Given the description of an element on the screen output the (x, y) to click on. 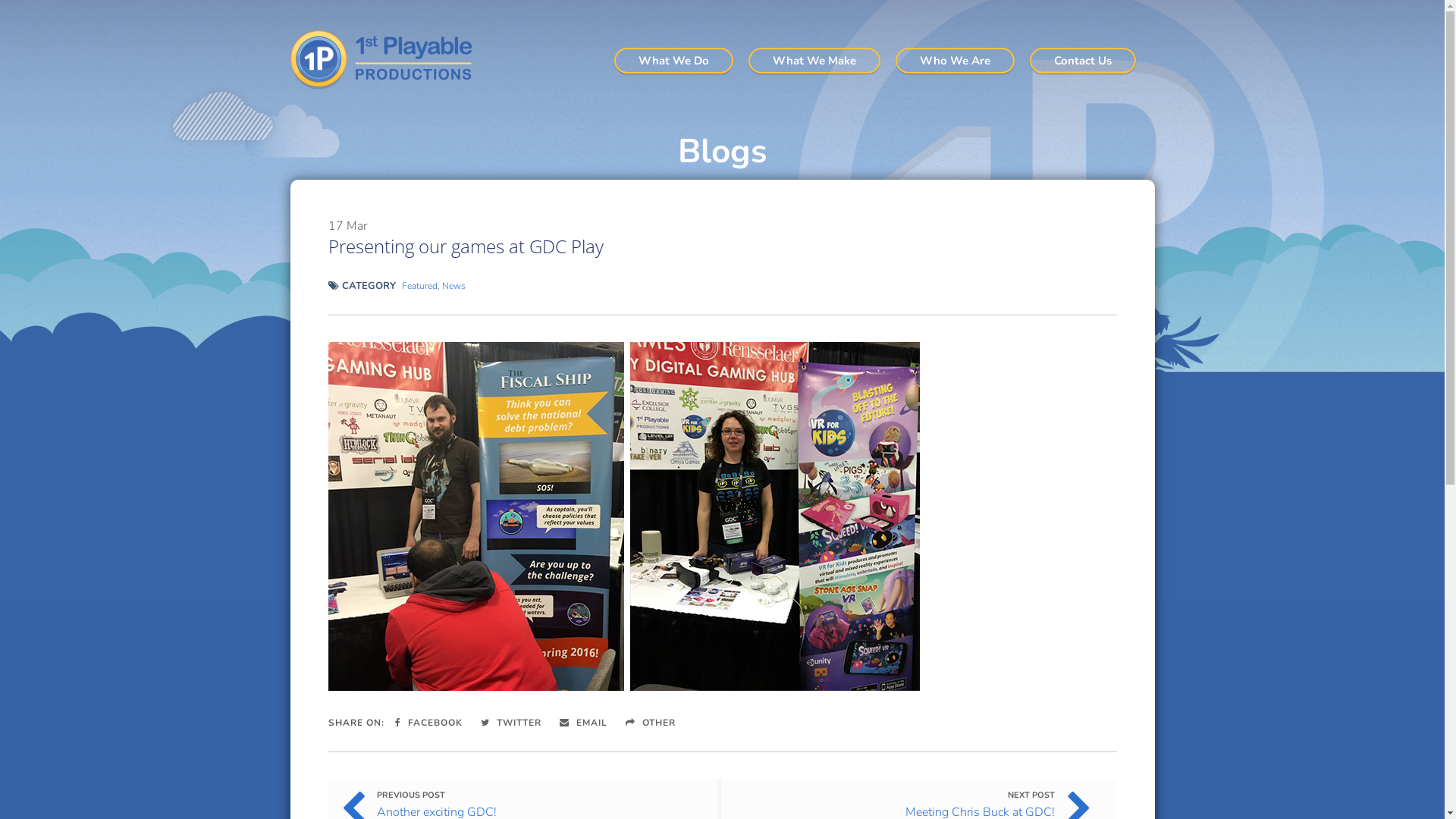
TWITTER Element type: text (510, 722)
OTHER Element type: text (649, 722)
News Element type: text (452, 285)
What We Make Element type: text (813, 60)
1st Playable Productions Element type: hover (386, 59)
What We Do Element type: text (673, 60)
Contact Us Element type: text (1082, 60)
FACEBOOK Element type: text (427, 722)
EMAIL Element type: text (583, 722)
Who We Are Element type: text (953, 60)
Featured Element type: text (419, 285)
